Given the description of an element on the screen output the (x, y) to click on. 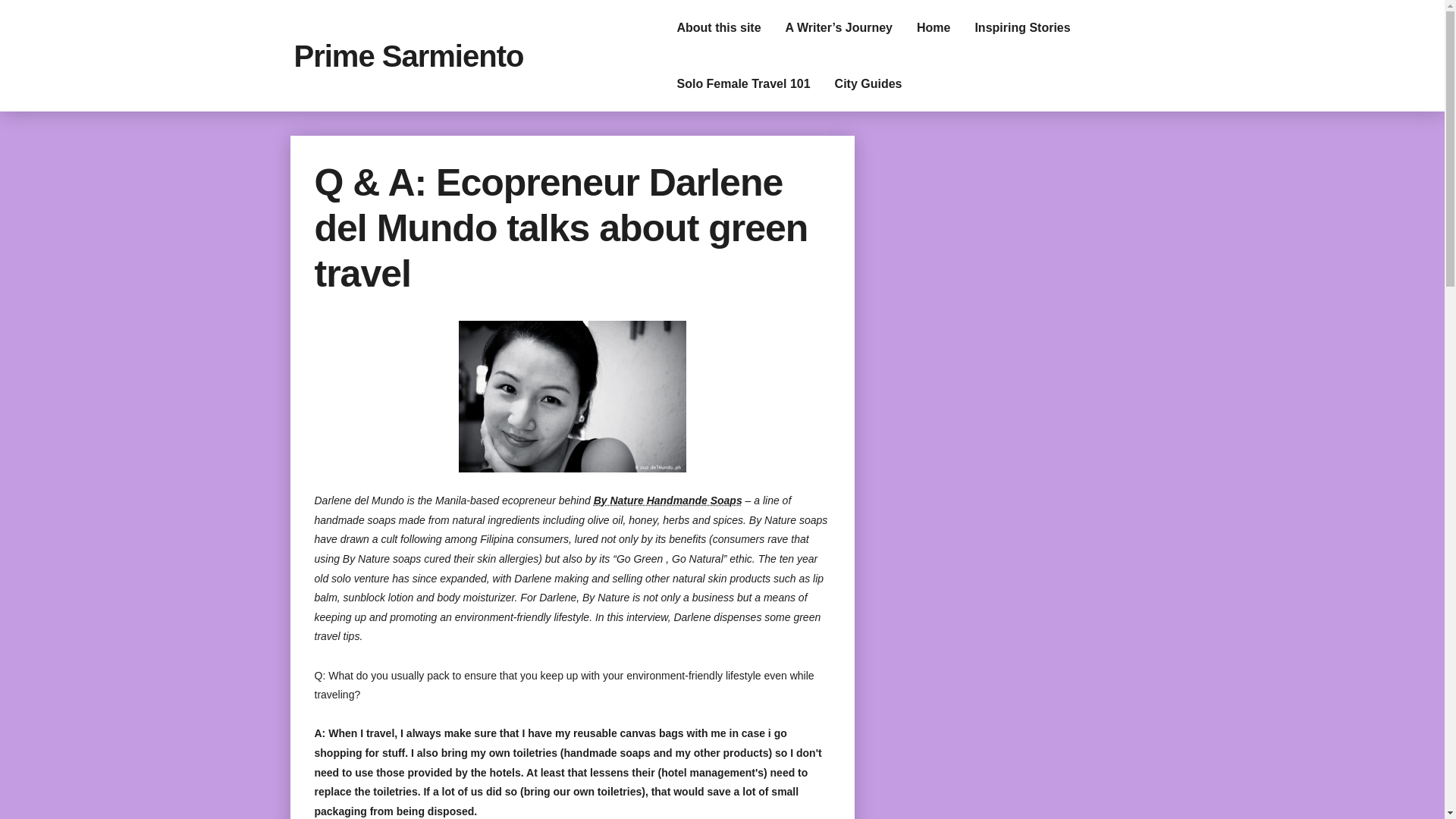
Home (933, 28)
Inspiring Stories (1021, 28)
City Guides (868, 84)
About this site (718, 28)
By Nature Handmande Soaps (668, 500)
Solo Female Travel 101 (742, 84)
Prime Sarmiento (409, 55)
